Given the description of an element on the screen output the (x, y) to click on. 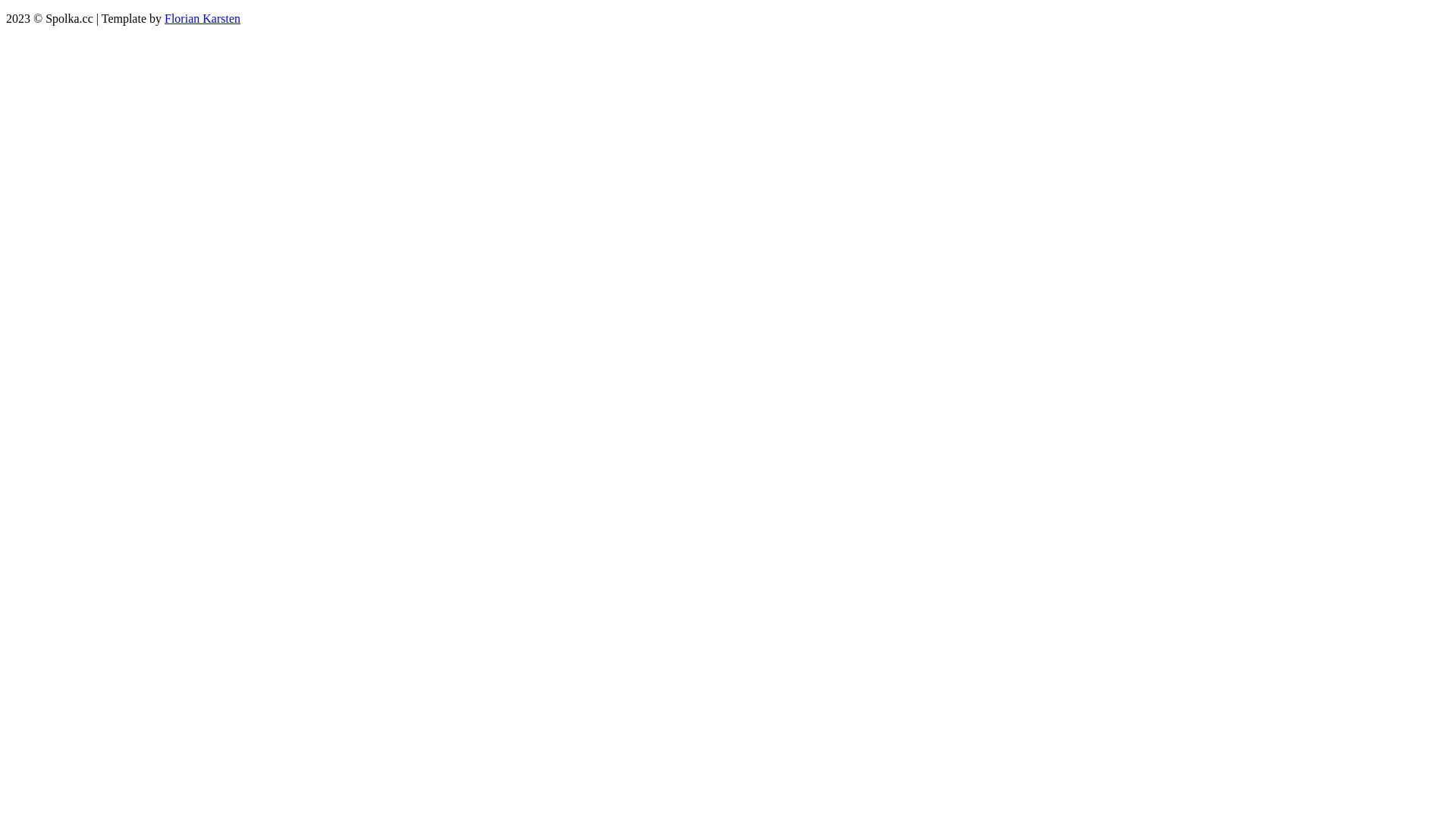
Florian Karsten Element type: text (202, 18)
